Given the description of an element on the screen output the (x, y) to click on. 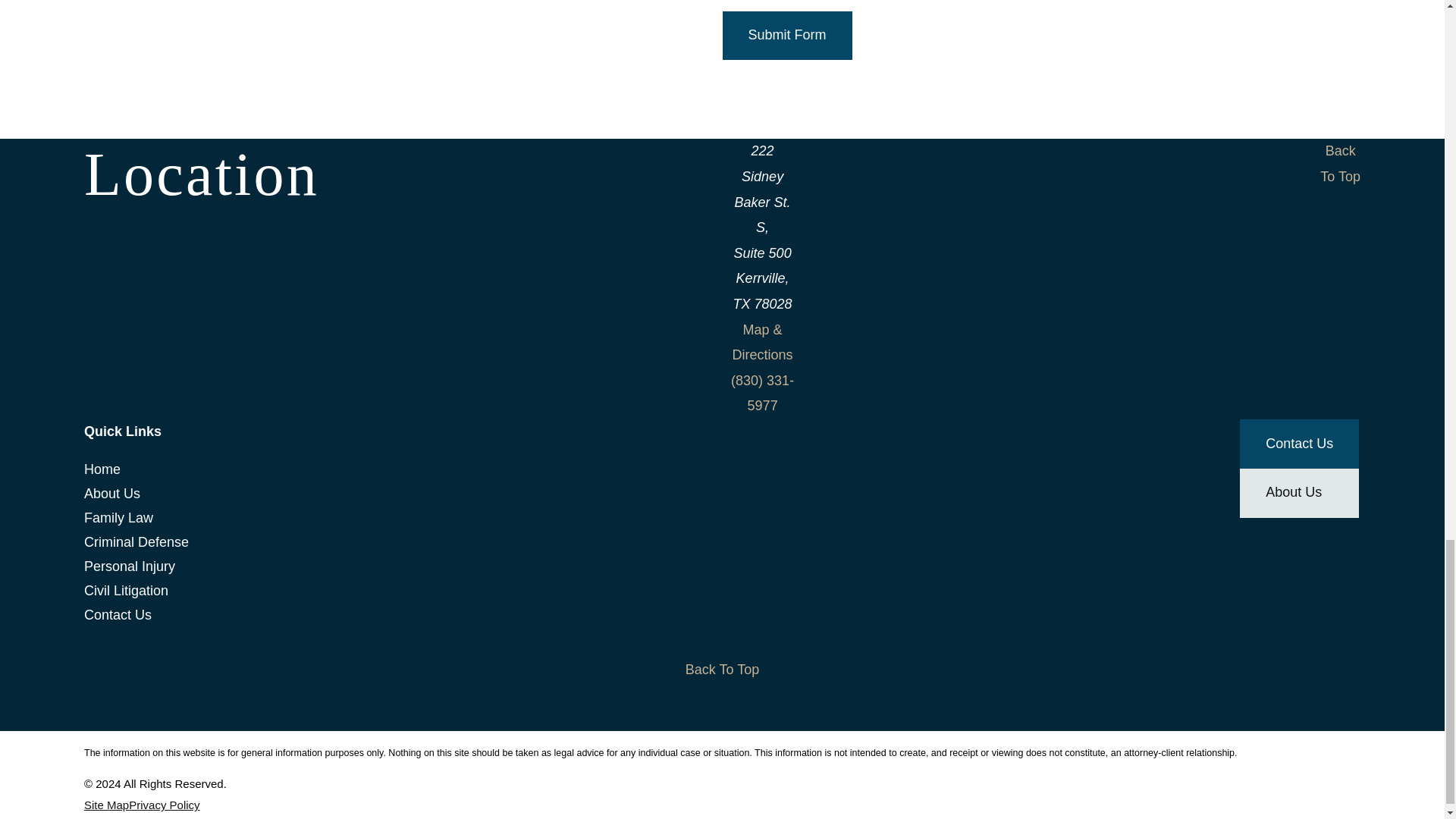
Home (296, 469)
Criminal Defense (296, 541)
Family Law (296, 517)
Submit Form (786, 35)
About Us (296, 493)
Personal Injury (296, 566)
